Given the description of an element on the screen output the (x, y) to click on. 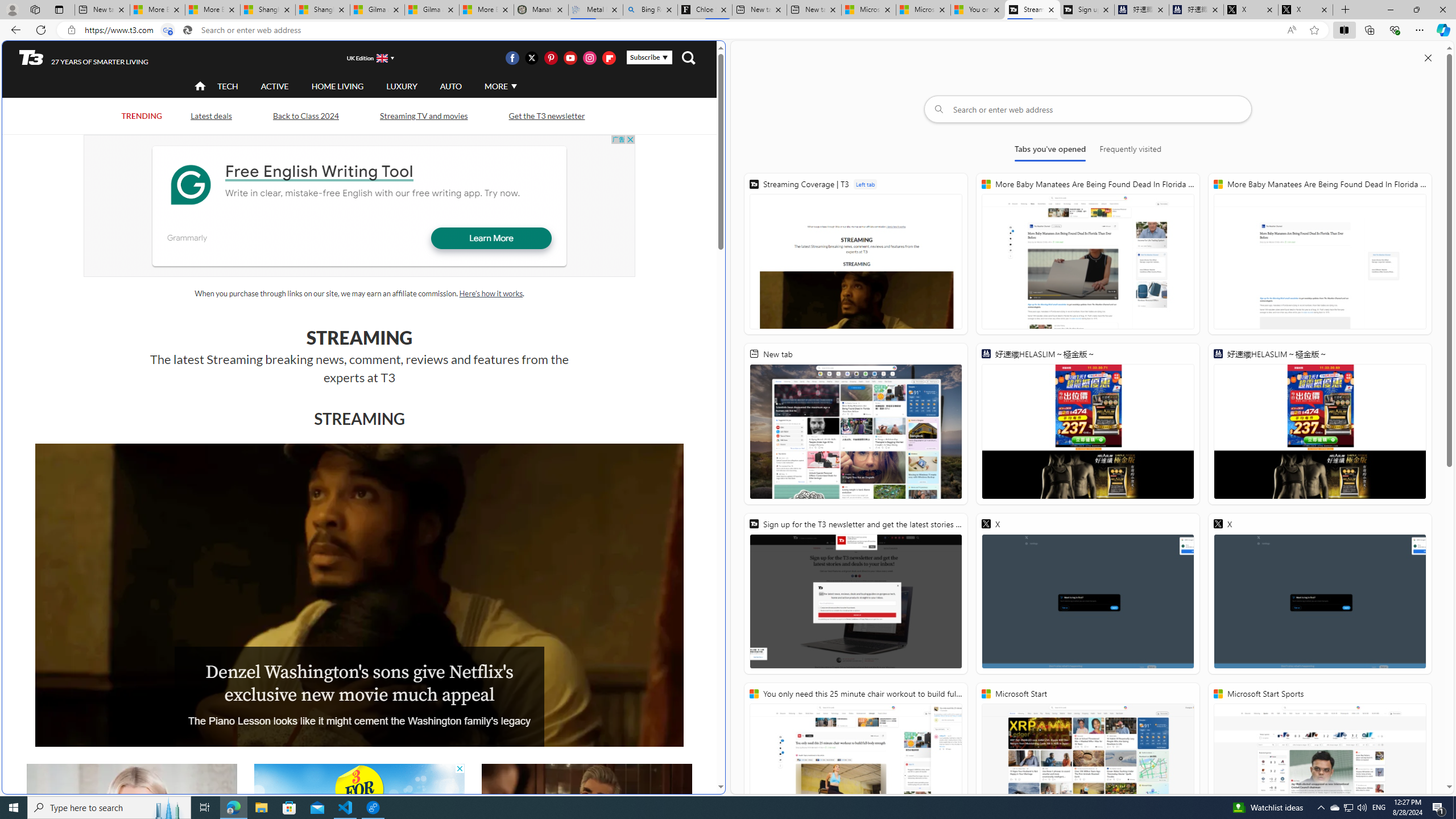
LUXURY (401, 86)
Collections (1369, 29)
Settings and more (Alt+F) (1419, 29)
X (1319, 593)
MORE  (499, 86)
Class: icon-svg (608, 57)
Streaming Coverage | T3 (1032, 9)
HOME LIVING (337, 86)
UK Edition (365, 57)
HOME LIVING (337, 85)
T3 27 YEARS OF SMARTER LIVING (83, 57)
Visit us on Instagram (589, 57)
Class: svg-arrow-down (513, 86)
